Given the description of an element on the screen output the (x, y) to click on. 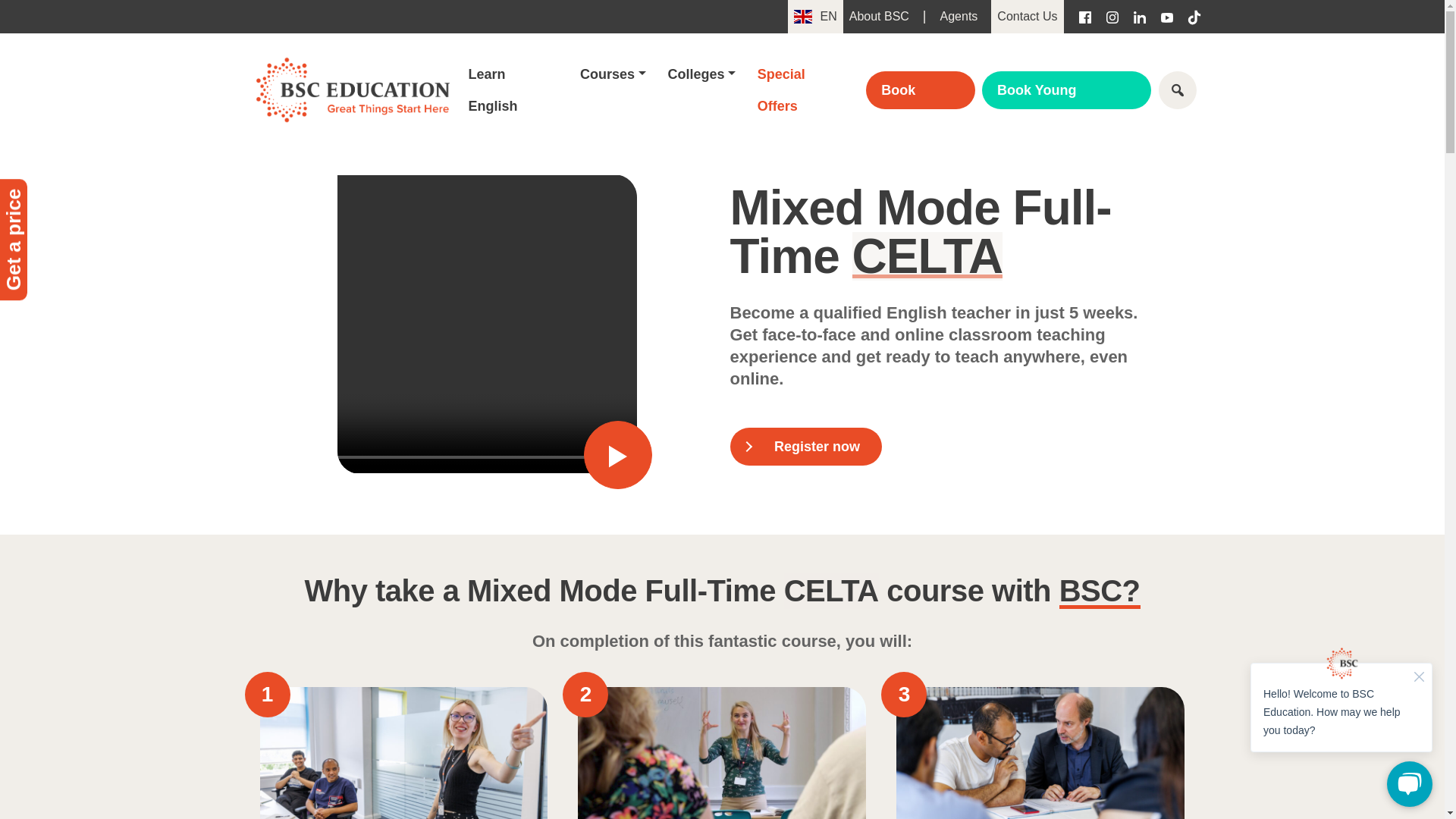
Learn English (513, 90)
Learn English (513, 90)
Courses (612, 74)
Contact Us (1026, 16)
About BSC (879, 16)
EN (815, 17)
Courses (612, 74)
Agents (959, 16)
Get a price (60, 192)
Get a price (60, 192)
